Given the description of an element on the screen output the (x, y) to click on. 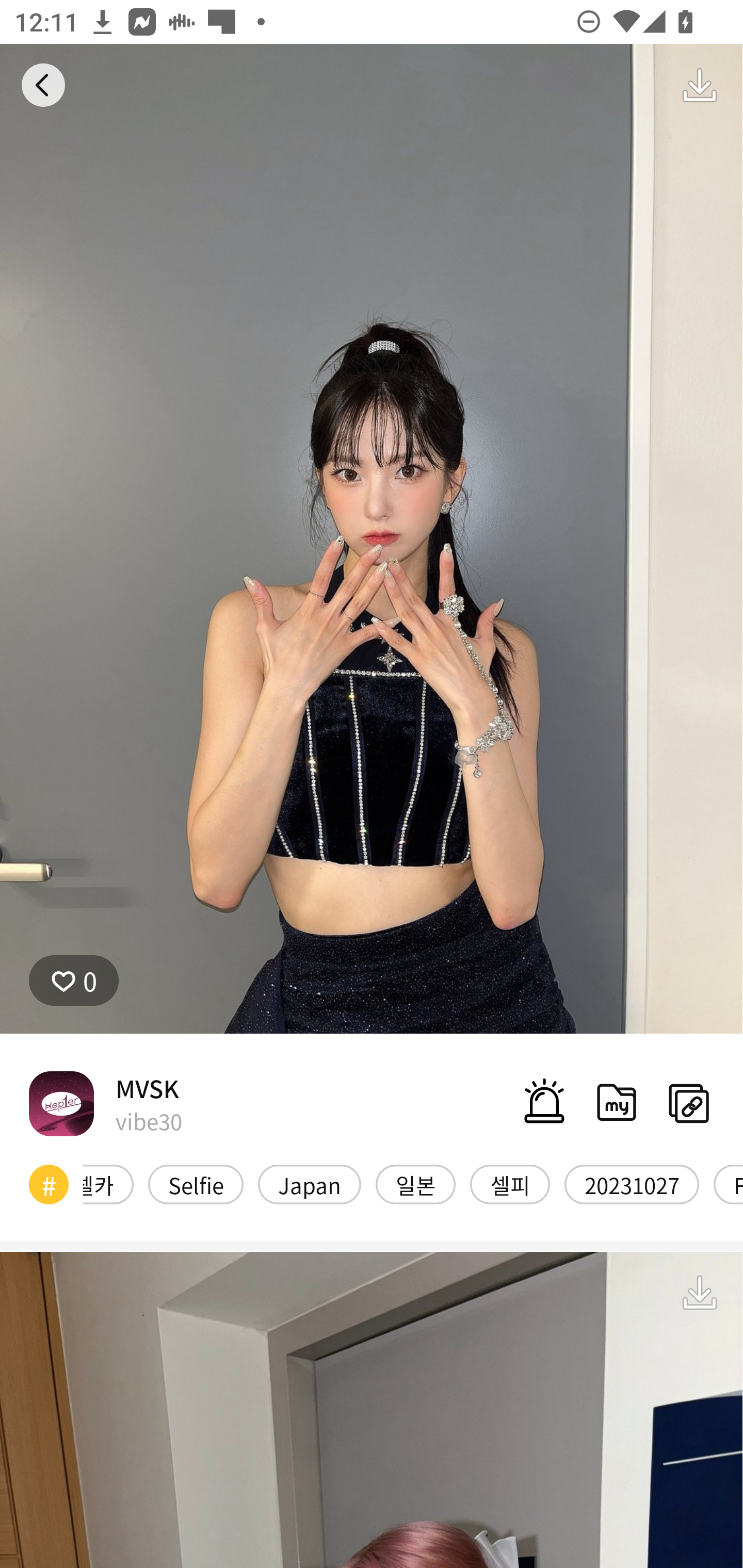
0 (73, 980)
MVSK vibe30 (105, 1102)
셀카 (108, 1184)
Selfie (195, 1184)
Japan (309, 1184)
일본 (415, 1184)
셀피 (509, 1184)
20231027 (631, 1184)
